Given the description of an element on the screen output the (x, y) to click on. 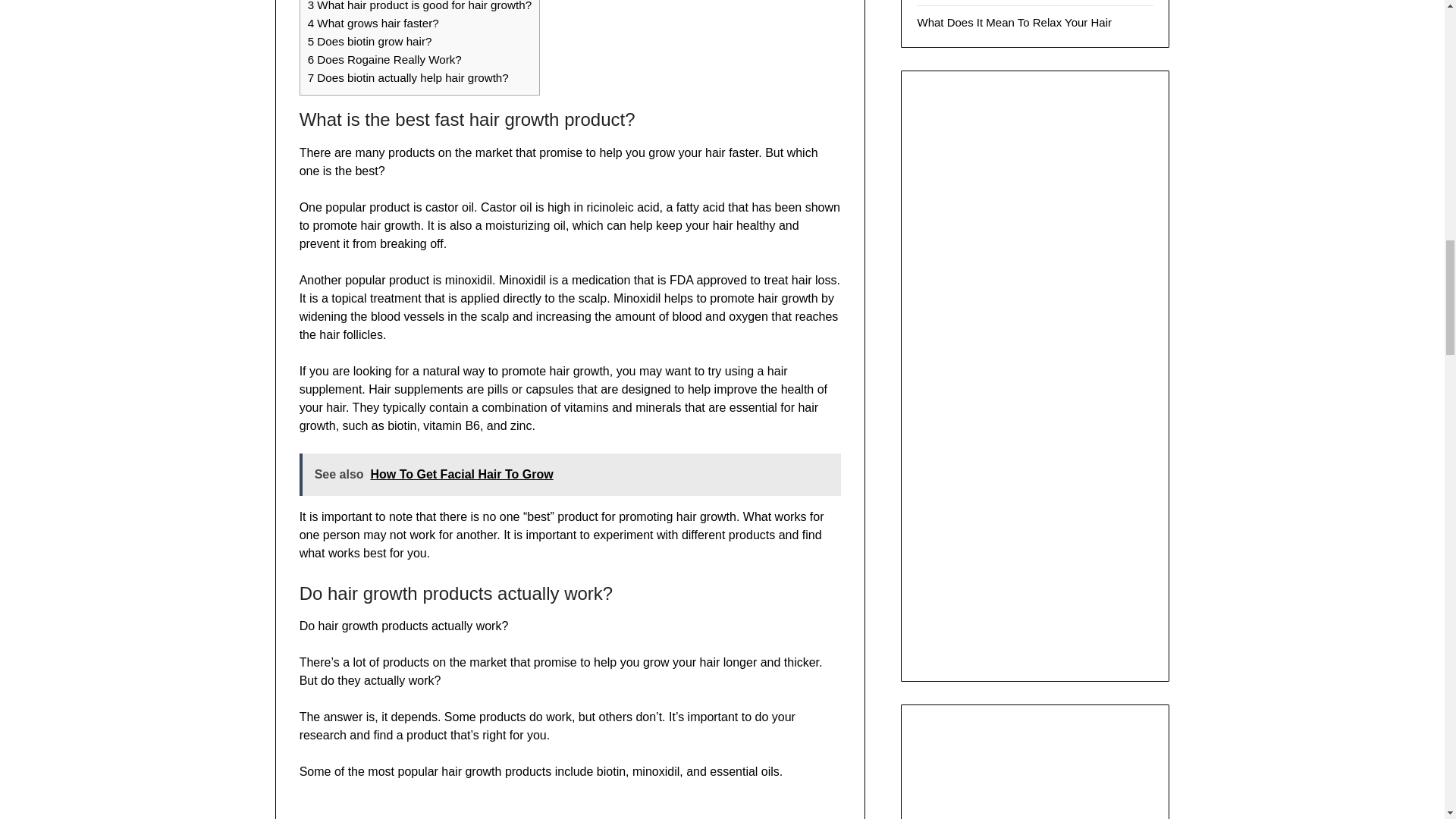
4 What grows hair faster? (373, 22)
7 Does biotin actually help hair growth? (407, 77)
6 Does Rogaine Really Work? (384, 59)
5 Does biotin grow hair? (369, 41)
See also  How To Get Facial Hair To Grow (570, 474)
3 What hair product is good for hair growth? (419, 5)
Spotify Embed: Let It Be - Remastered 2009 (1035, 775)
